Given the description of an element on the screen output the (x, y) to click on. 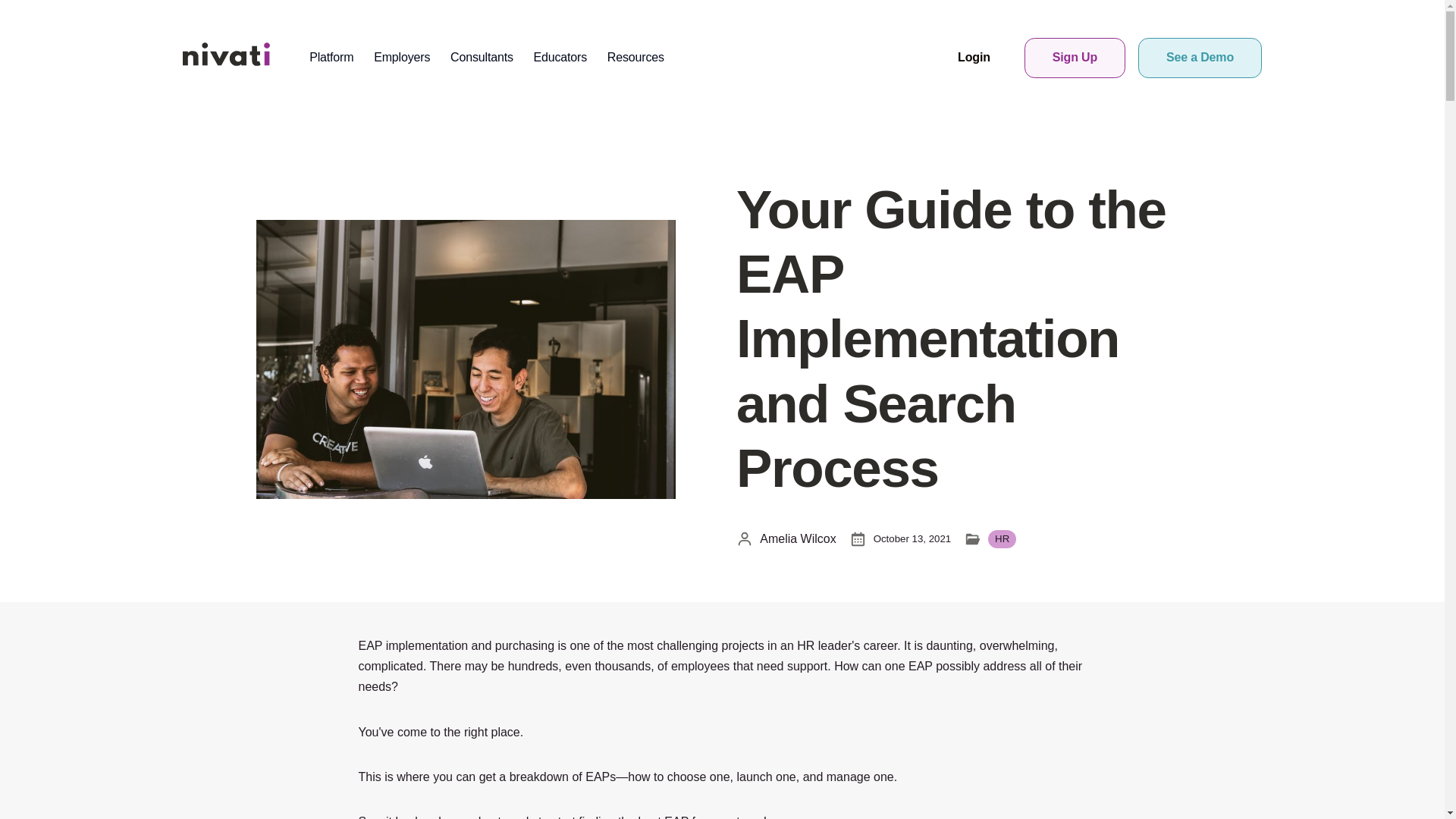
Employers (401, 57)
Amelia Wilcox (785, 538)
See a Demo (1199, 57)
Educators (559, 57)
Sign Up (1074, 57)
Consultants (481, 57)
Login (973, 57)
